Given the description of an element on the screen output the (x, y) to click on. 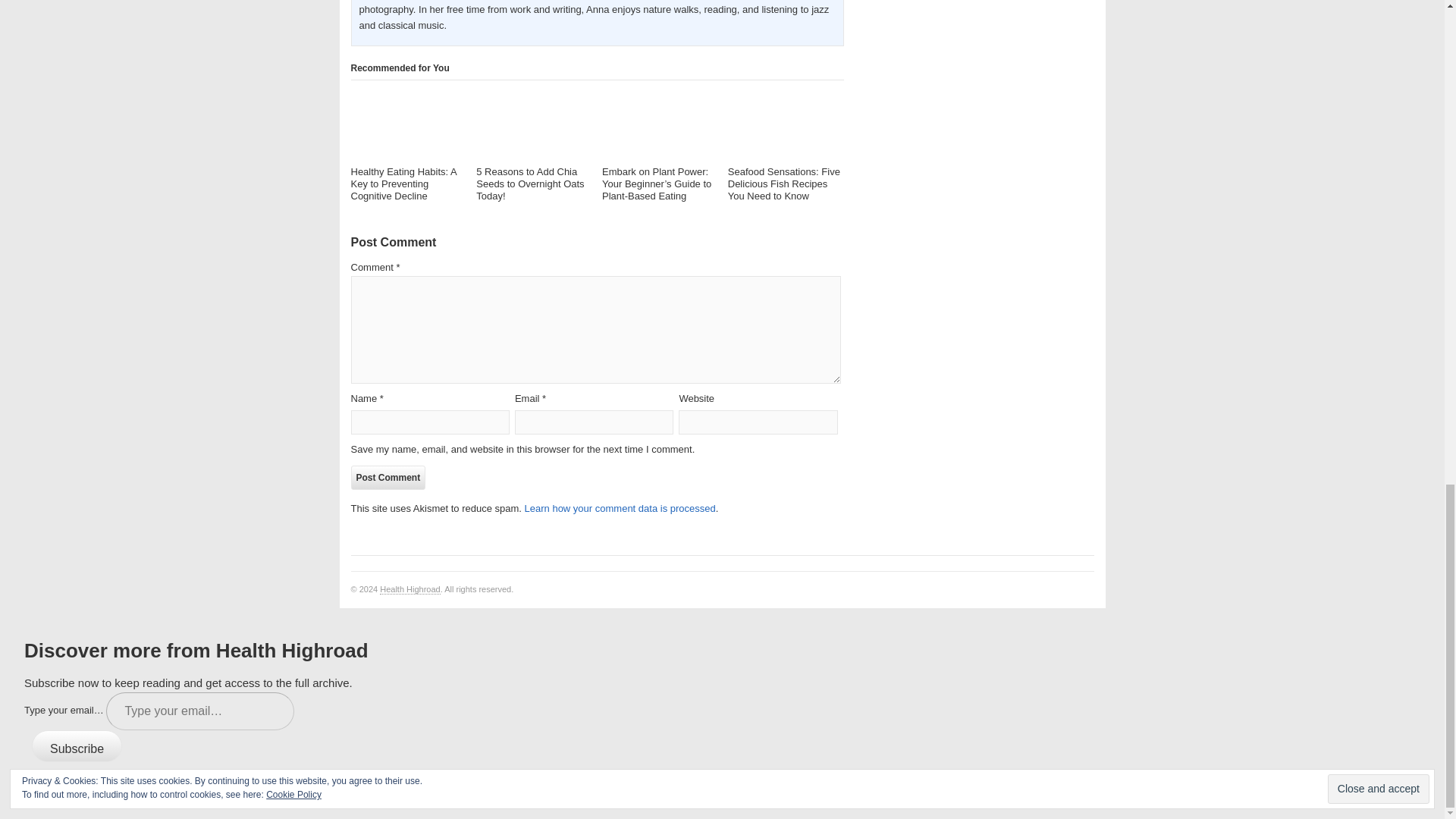
Please fill in this field. (200, 711)
Post Comment (387, 477)
Your Highroad to Health (410, 589)
